Given the description of an element on the screen output the (x, y) to click on. 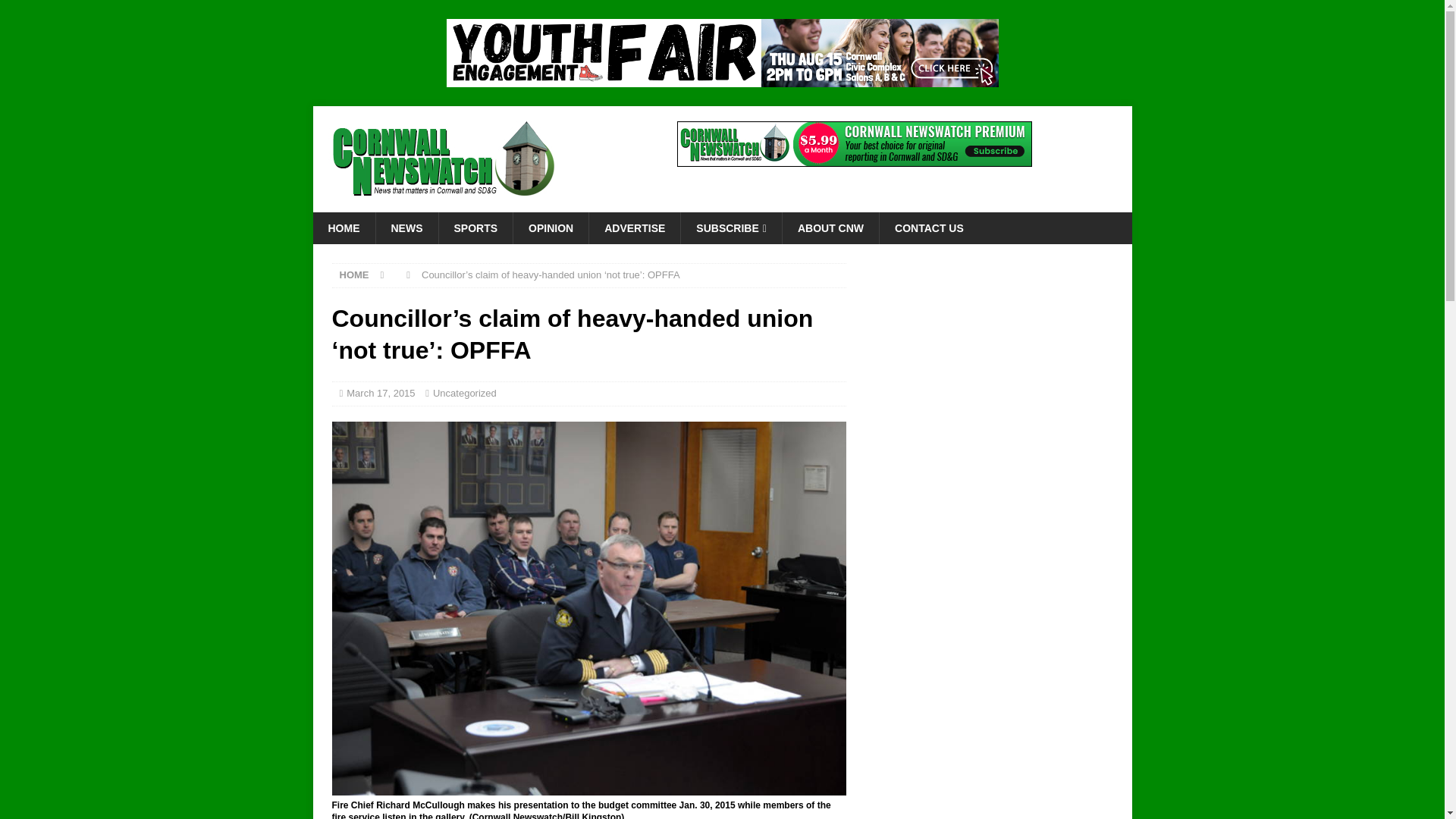
ABOUT CNW (830, 228)
OPINION (550, 228)
HOME (354, 274)
CONTACT US (928, 228)
SUBSCRIBE (730, 228)
NEWS (406, 228)
March 17, 2015 (380, 392)
HOME (343, 228)
SPORTS (475, 228)
